Given the description of an element on the screen output the (x, y) to click on. 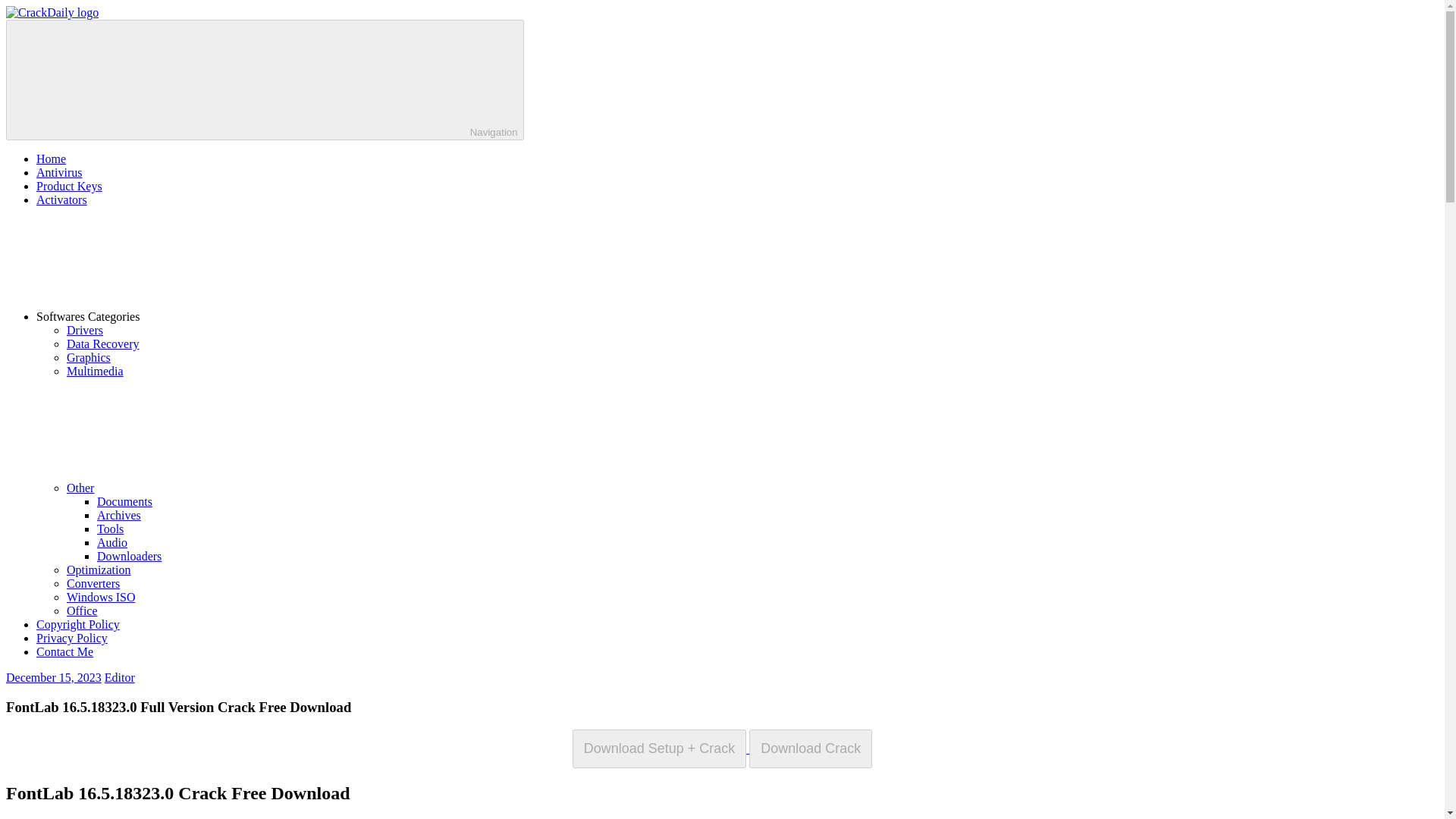
Copyright Policy (77, 624)
Privacy Policy (71, 637)
Windows ISO (100, 596)
Audio (112, 542)
Home (50, 158)
Archives (119, 514)
Office (81, 610)
Daily Software Crack Updates (27, 58)
Other (193, 487)
8:10 am (53, 676)
Converters (92, 583)
Navigation (264, 79)
December 15, 2023 (53, 676)
Tools (110, 528)
Data Recovery (102, 343)
